Given the description of an element on the screen output the (x, y) to click on. 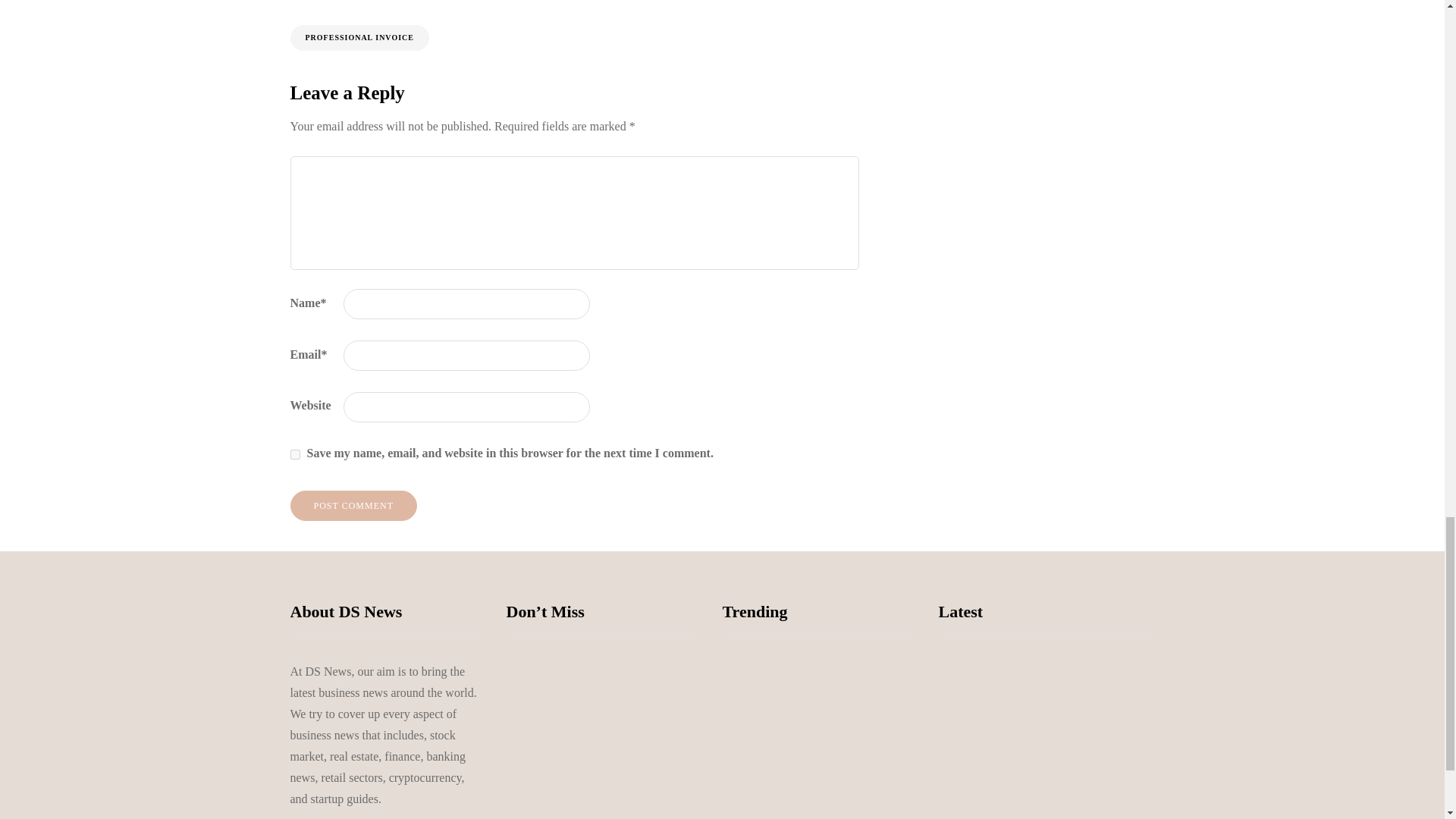
yes (294, 454)
PROFESSIONAL INVOICE (358, 37)
Post comment (352, 505)
